Given the description of an element on the screen output the (x, y) to click on. 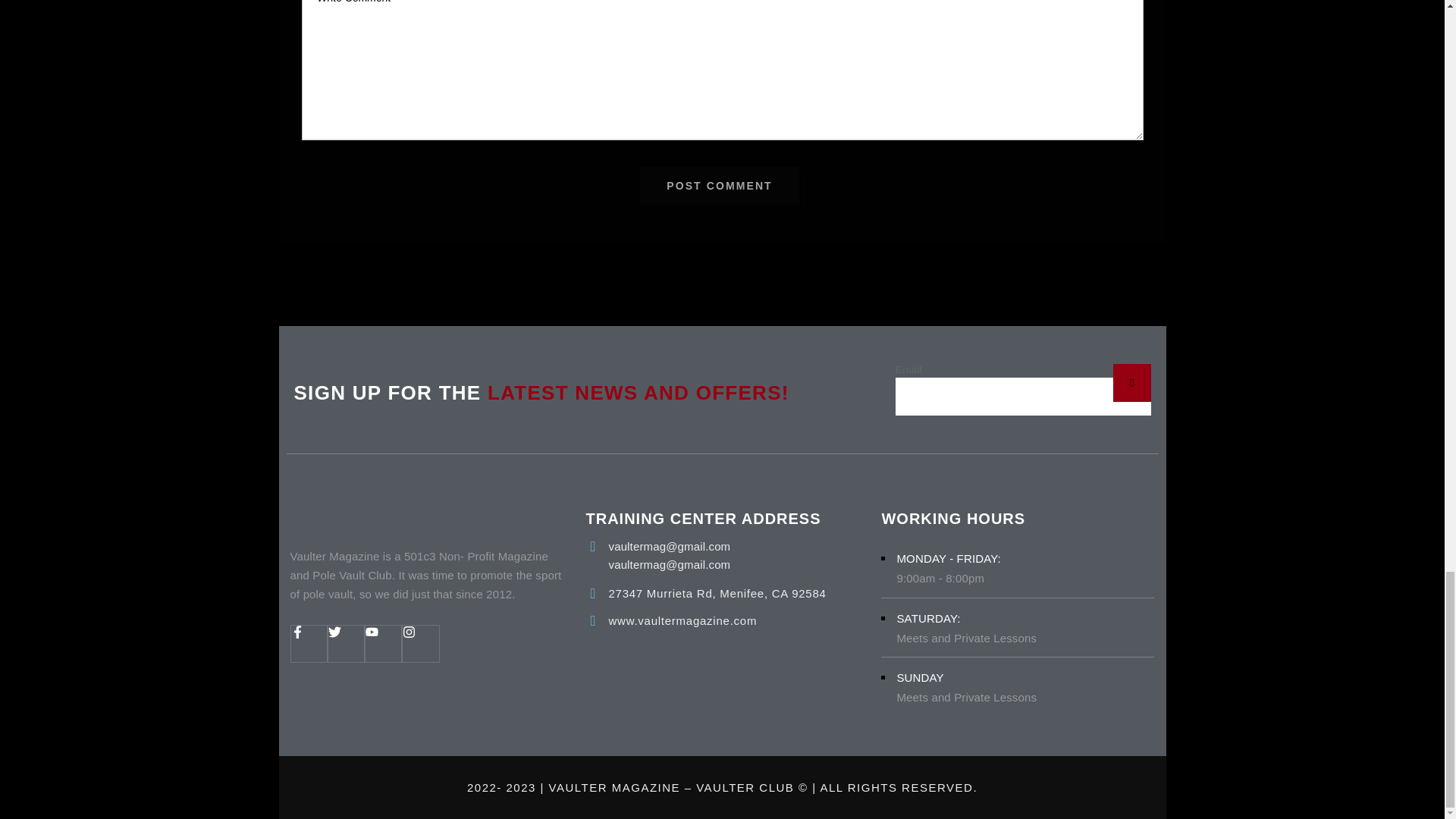
27347 Murrieta Rd, Menifee, CA 92584 (716, 593)
Subscribe (1132, 382)
Subscribe (1132, 382)
POST COMMENT (719, 185)
